Given the description of an element on the screen output the (x, y) to click on. 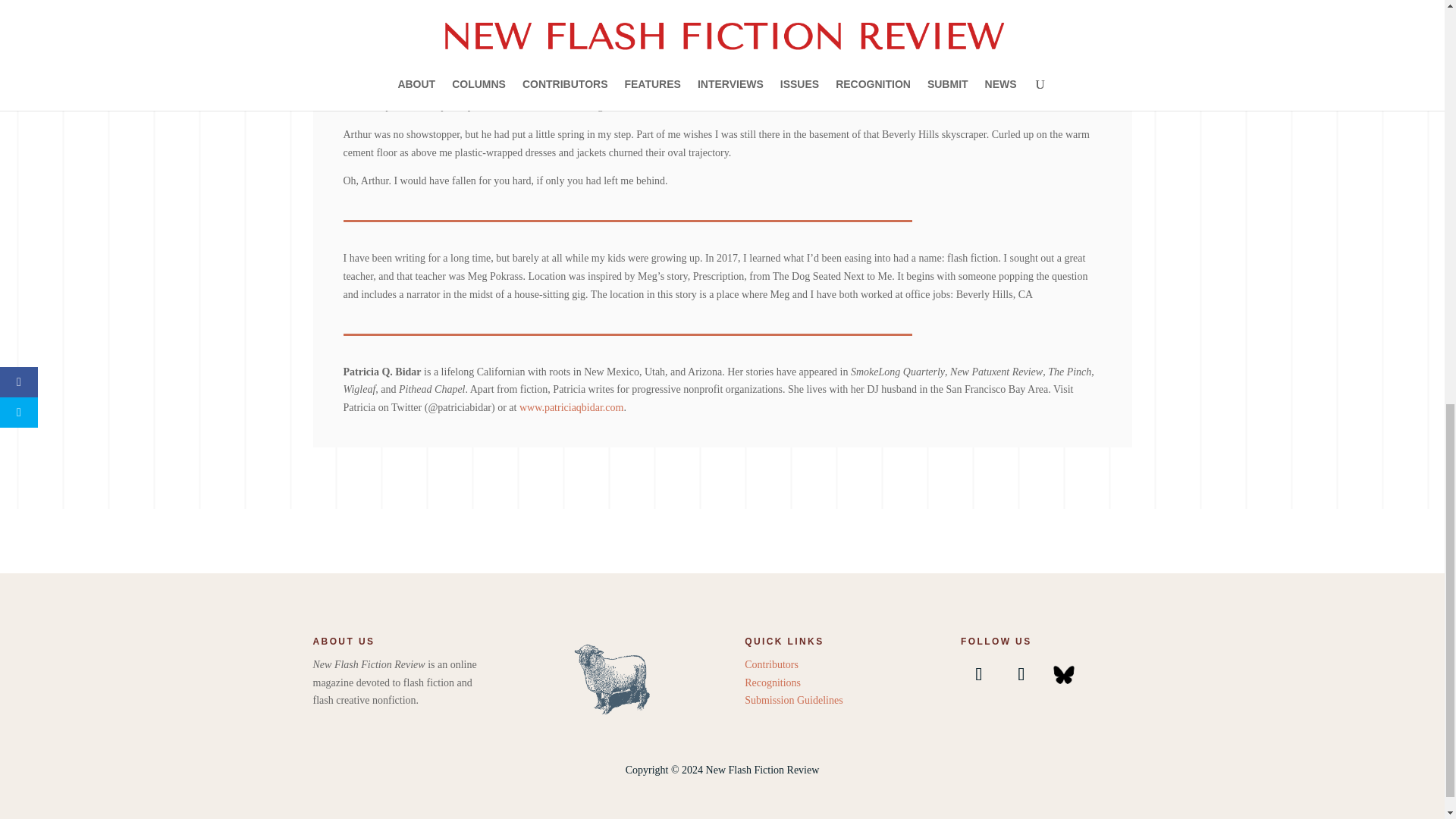
Follow on Facebook (978, 674)
Contributors (770, 664)
Recognitions (772, 682)
Follow on X (1021, 674)
Follow on RSS (1063, 674)
55 (615, 677)
www.patriciaqbidar.com (571, 407)
Submission Guidelines (793, 699)
